Given the description of an element on the screen output the (x, y) to click on. 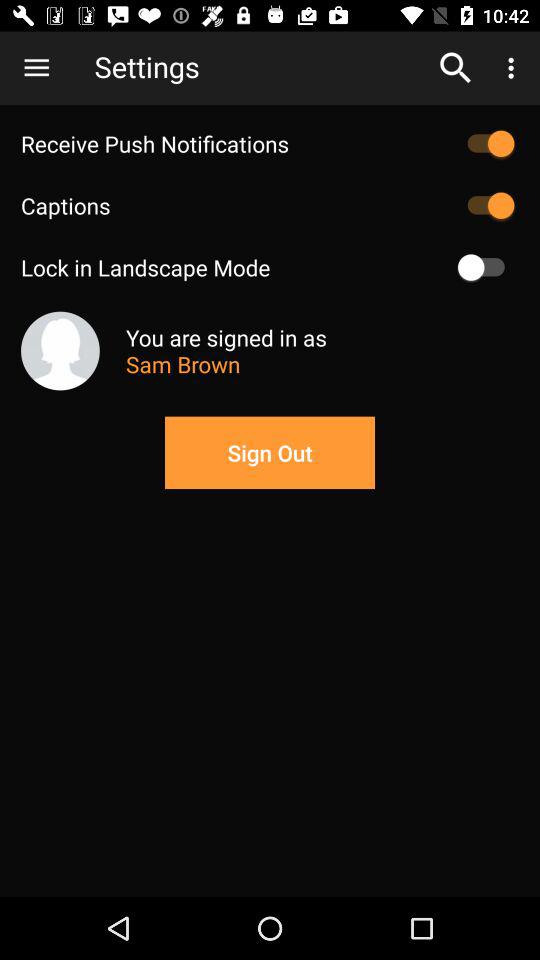
on or off (486, 267)
